Given the description of an element on the screen output the (x, y) to click on. 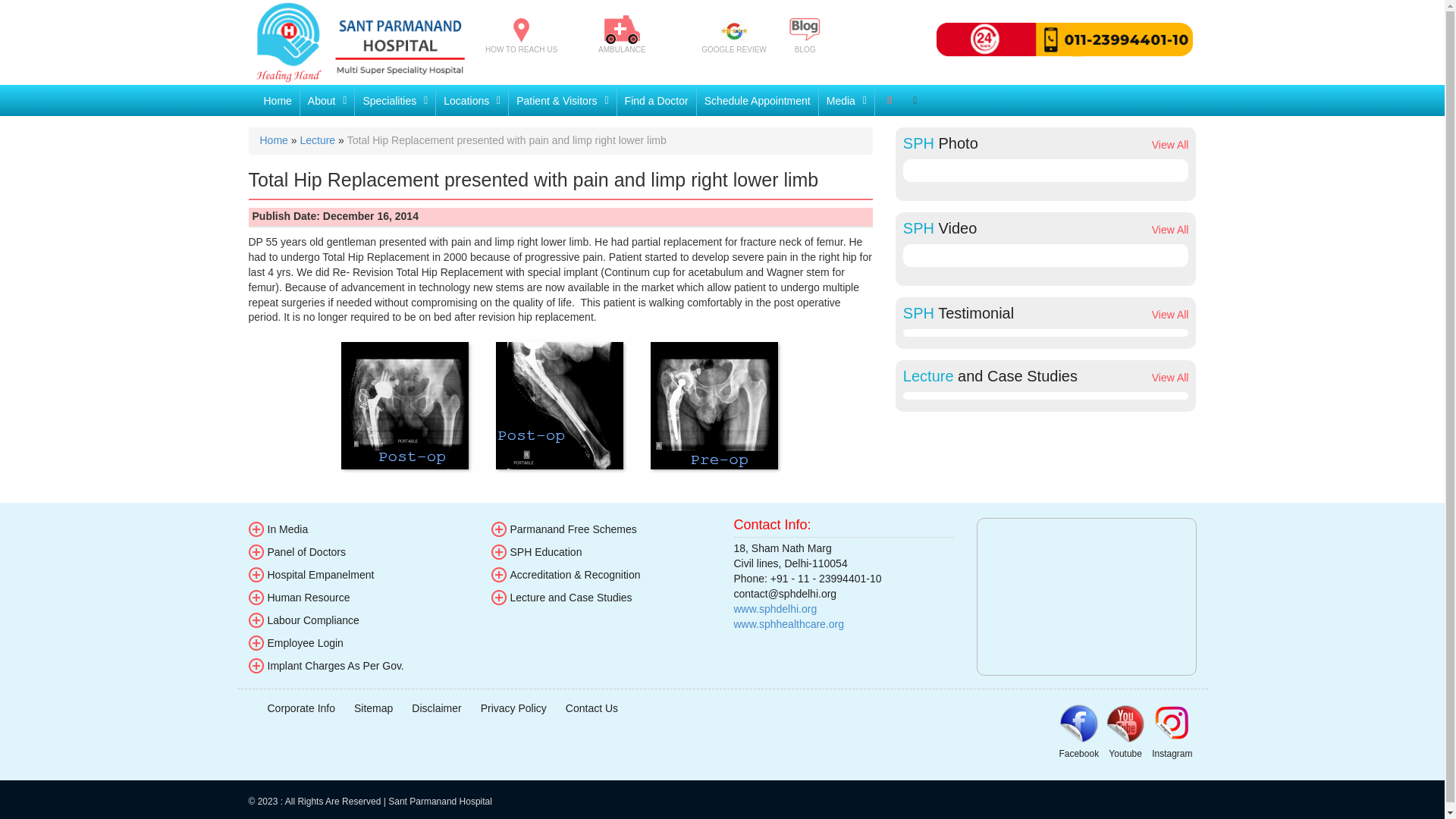
Home (277, 100)
HOW TO REACH US (520, 36)
BLOG (804, 35)
GOOGLE REVIEW (734, 36)
About (327, 100)
Specialities (395, 100)
AMBULANCE (621, 35)
